Given the description of an element on the screen output the (x, y) to click on. 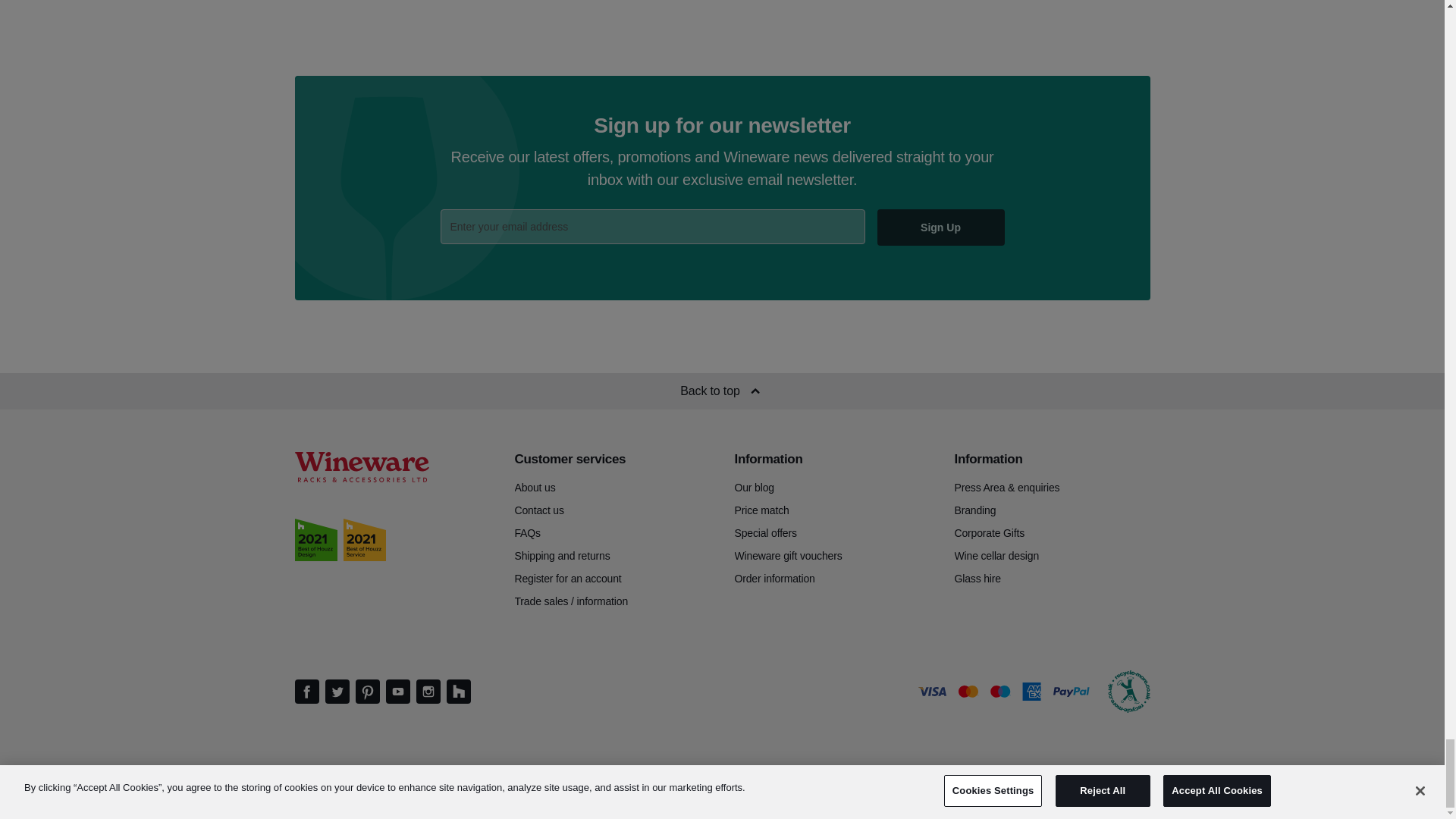
Twitter (336, 691)
Sign Up (940, 227)
Facebook (306, 691)
Instagram (426, 691)
Youtube (397, 691)
Pinterest (366, 691)
Houzz (457, 691)
Enter your email address (651, 226)
